Given the description of an element on the screen output the (x, y) to click on. 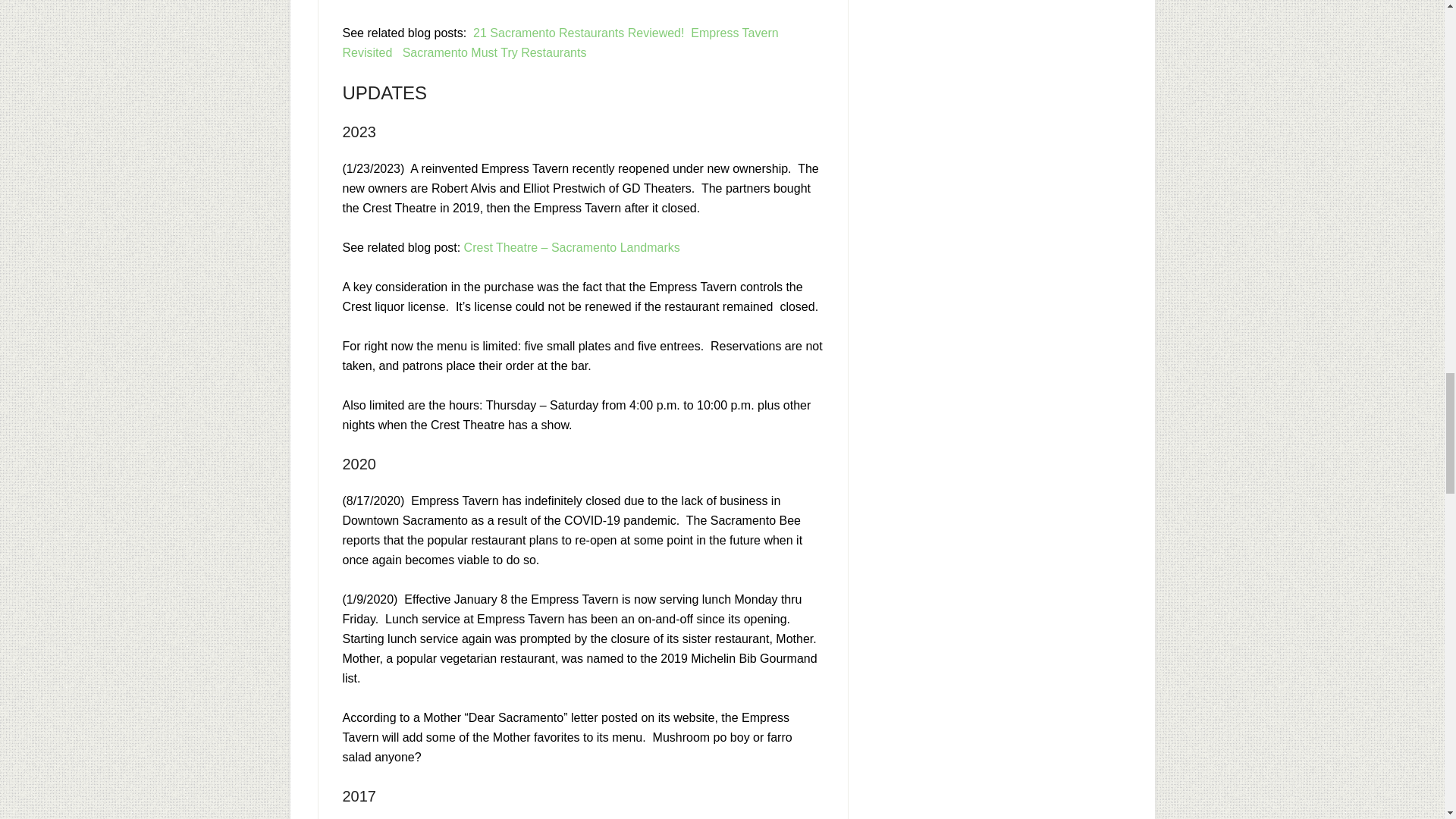
21 Sacramento Restaurants Reviewed! (578, 32)
Sacramento Must Try Restaurants (494, 51)
Empress Tavern Revisited (560, 42)
